Given the description of an element on the screen output the (x, y) to click on. 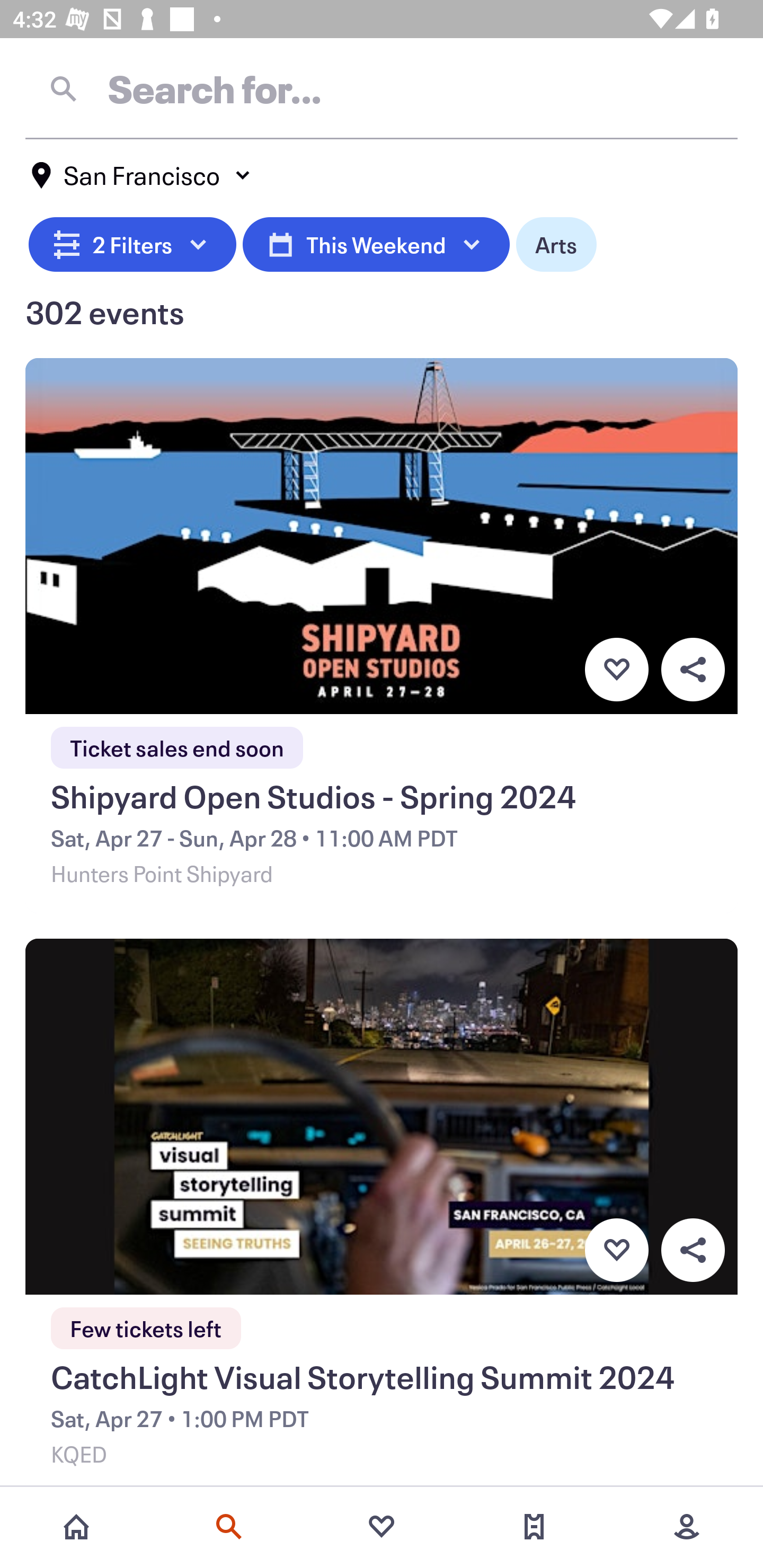
Search for… (381, 88)
San Francisco (141, 175)
2 Filters (132, 241)
This Weekend (375, 241)
Arts (555, 241)
Favorite button (616, 669)
Overflow menu button (692, 669)
Favorite button (616, 1250)
Overflow menu button (692, 1250)
Home (76, 1526)
Search events (228, 1526)
Favorites (381, 1526)
Tickets (533, 1526)
More (686, 1526)
